Given the description of an element on the screen output the (x, y) to click on. 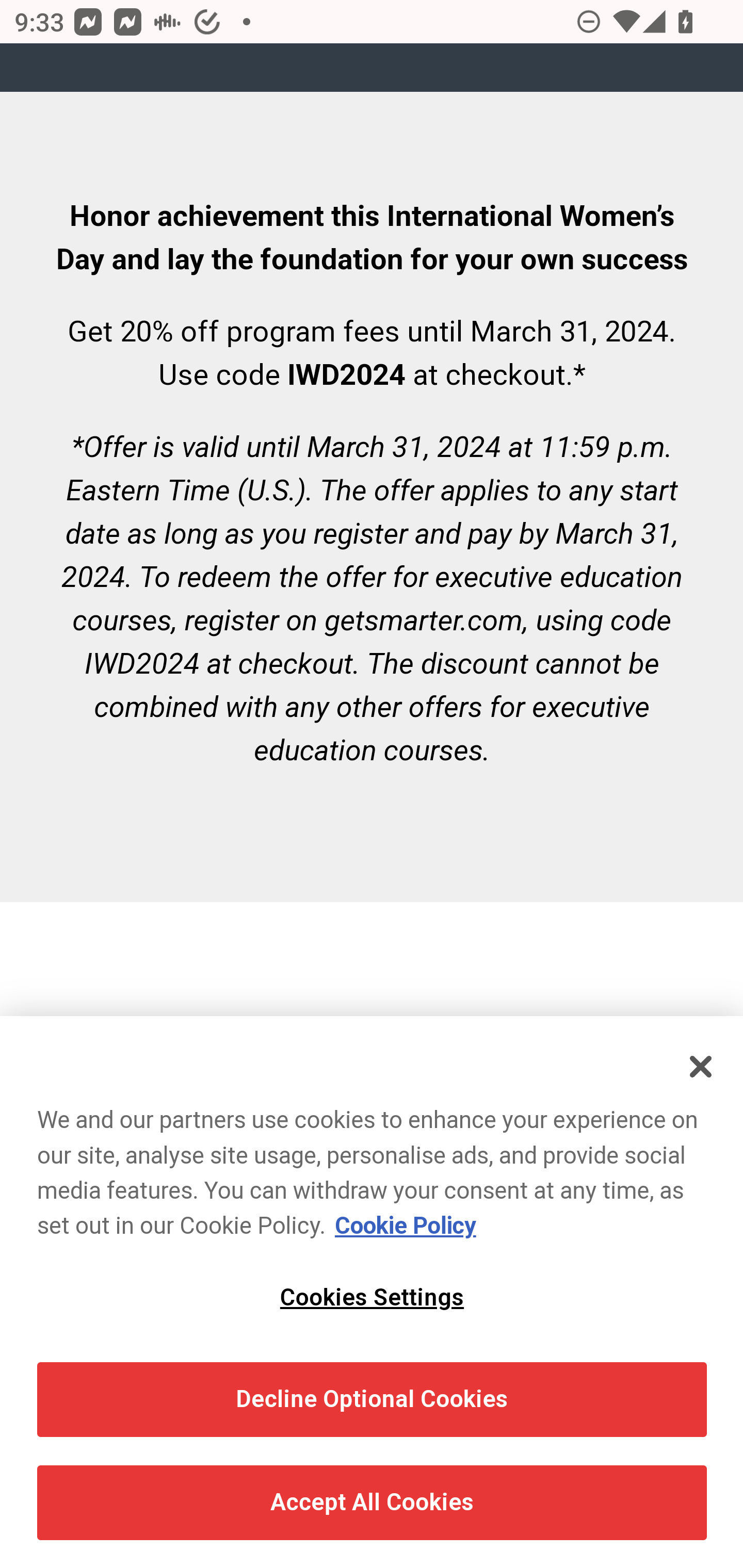
Close (701, 1066)
Cookies Settings (372, 1298)
Decline Optional Cookies (372, 1399)
Accept All Cookies (372, 1503)
